Given the description of an element on the screen output the (x, y) to click on. 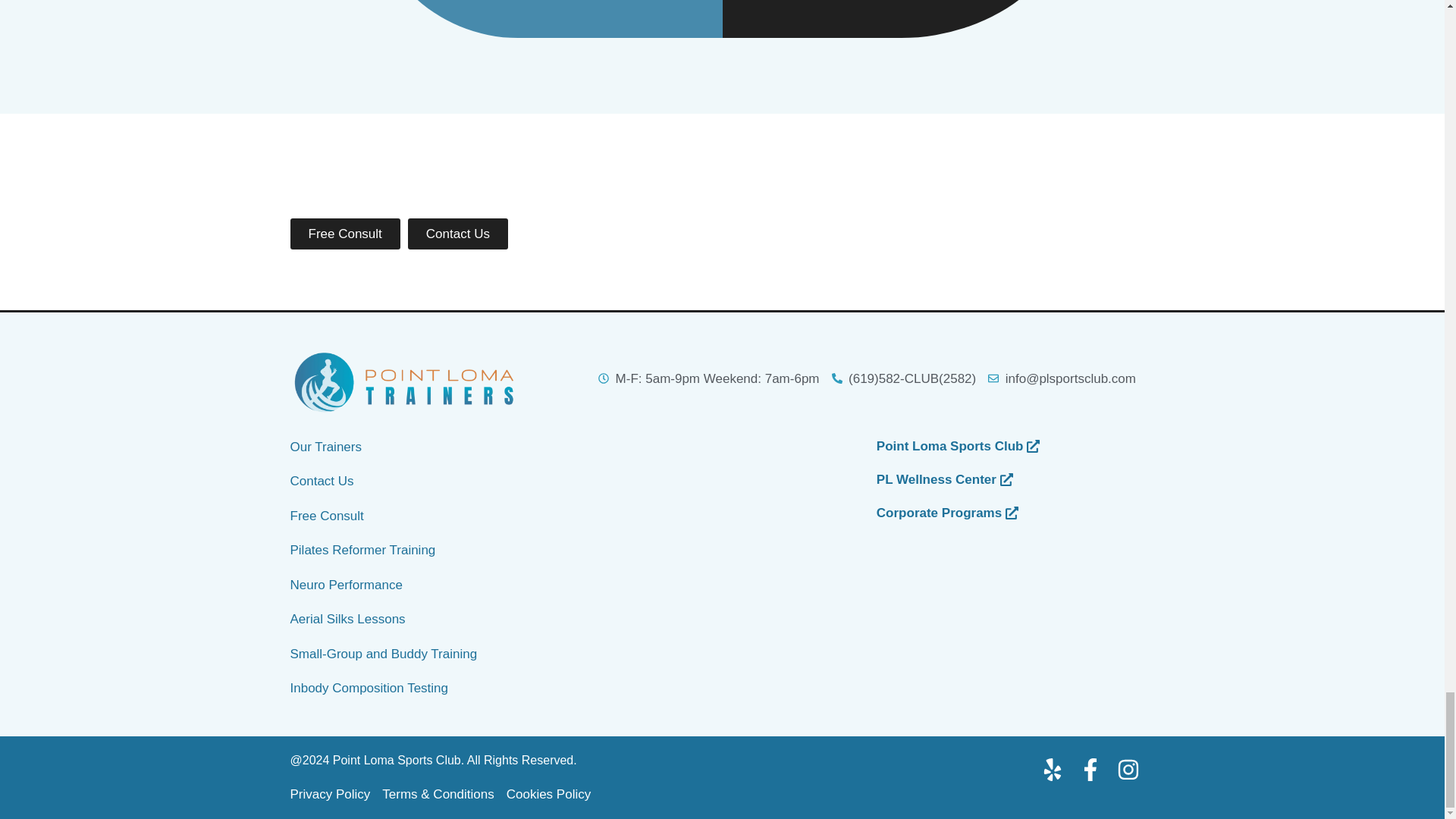
Free Consult (343, 233)
Contact Us (457, 233)
